Given the description of an element on the screen output the (x, y) to click on. 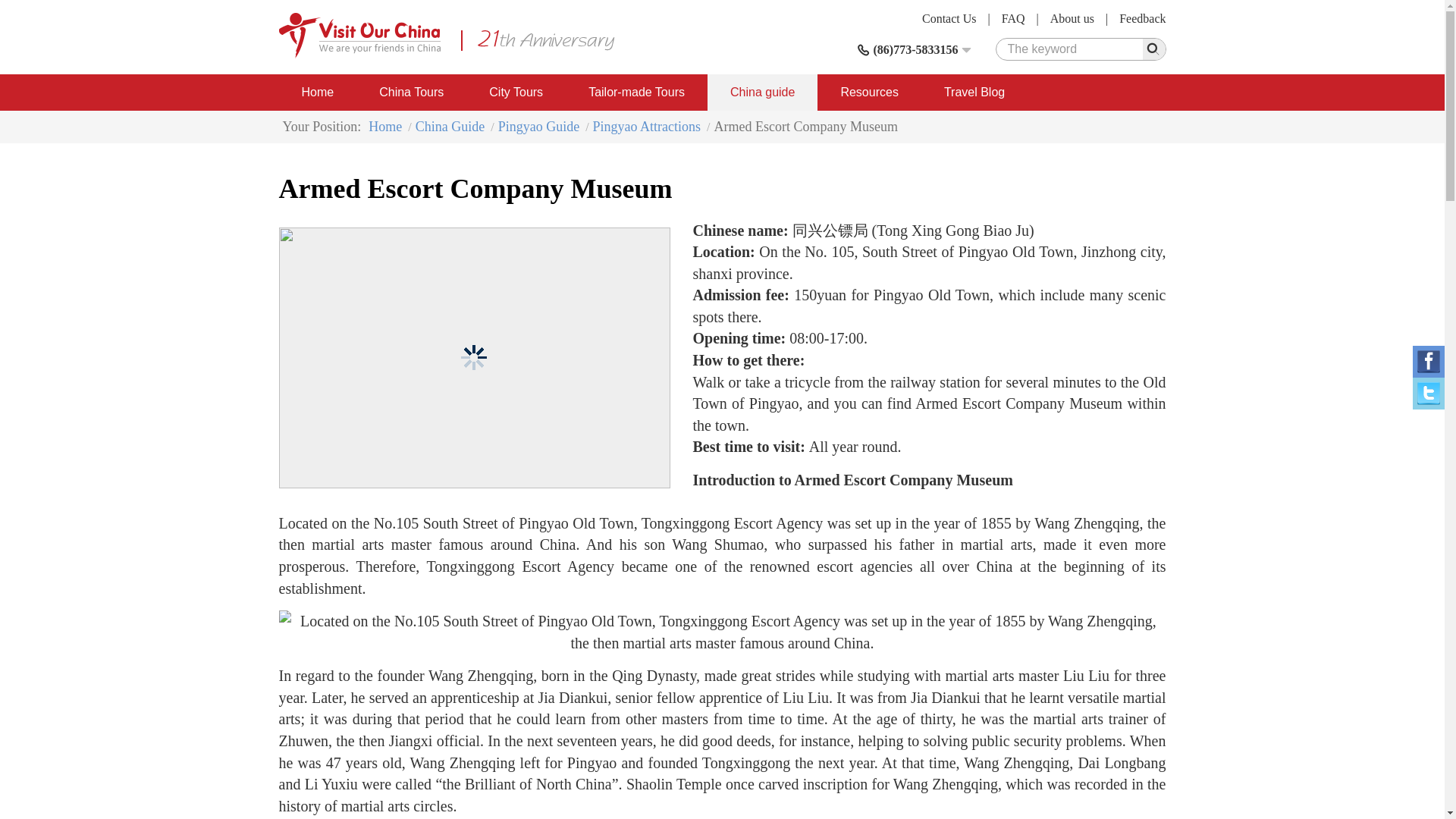
Resources (868, 92)
About us (1071, 18)
City Tours (515, 92)
Contact Us (948, 18)
China Tours (410, 92)
Feedback (1142, 18)
China guide (761, 92)
Home (317, 92)
Tailor-made Tours (636, 92)
